Given the description of an element on the screen output the (x, y) to click on. 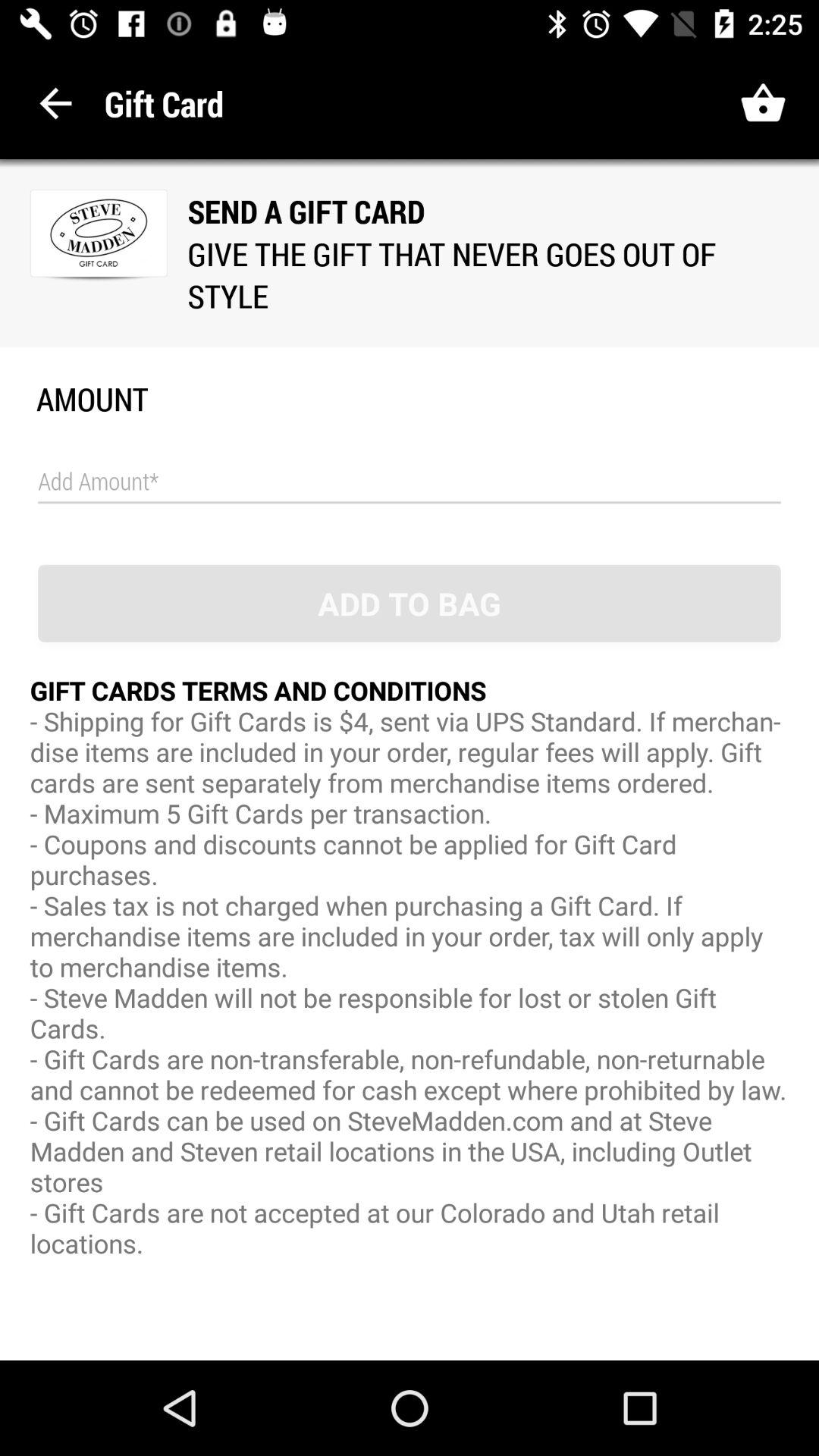
turn on the icon to the left of gift card icon (55, 103)
